Given the description of an element on the screen output the (x, y) to click on. 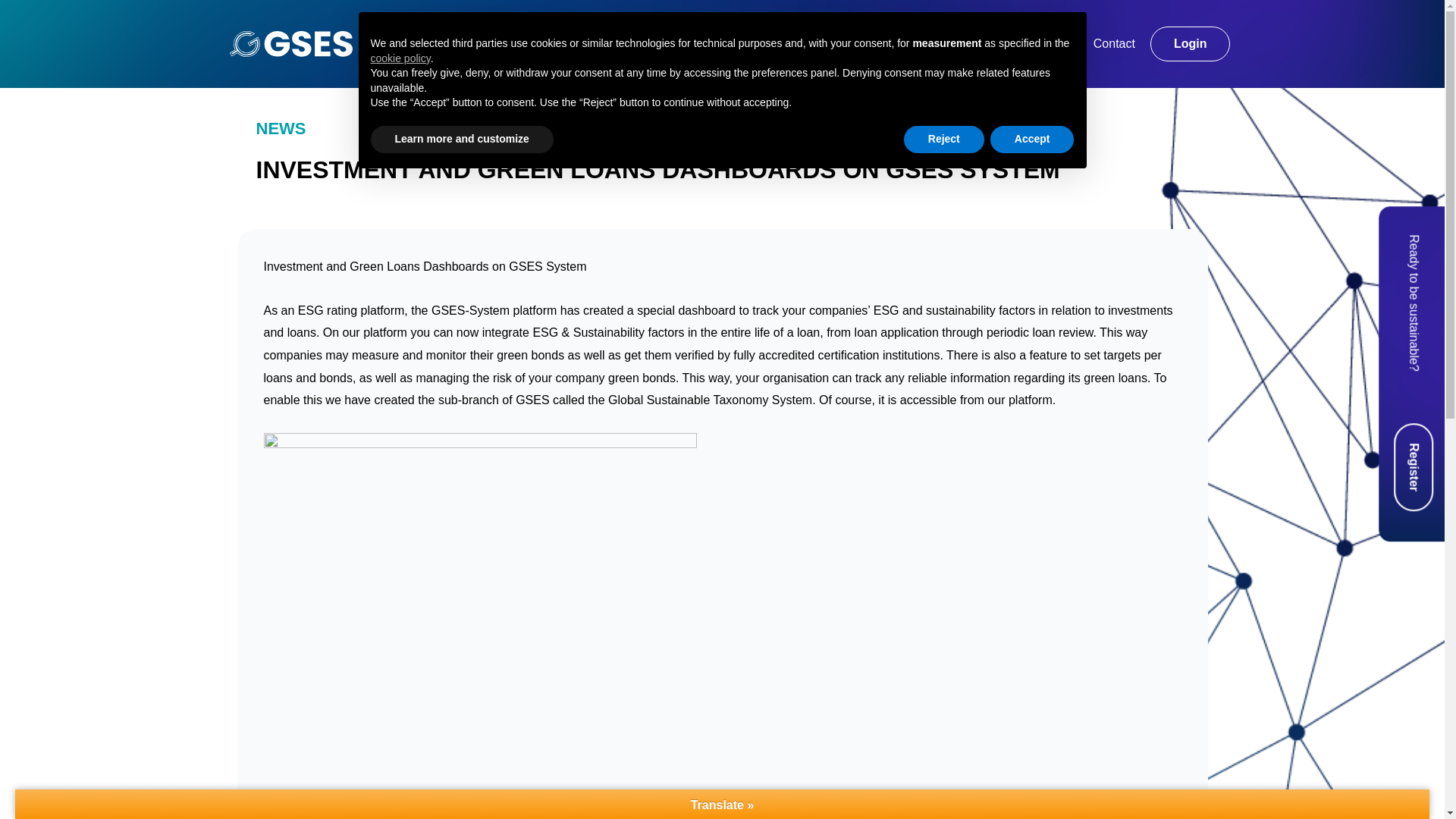
About us (681, 43)
Rating System (500, 43)
News (598, 43)
Login (1190, 43)
Contact (1114, 43)
Product sustainability rating (823, 43)
